Given the description of an element on the screen output the (x, y) to click on. 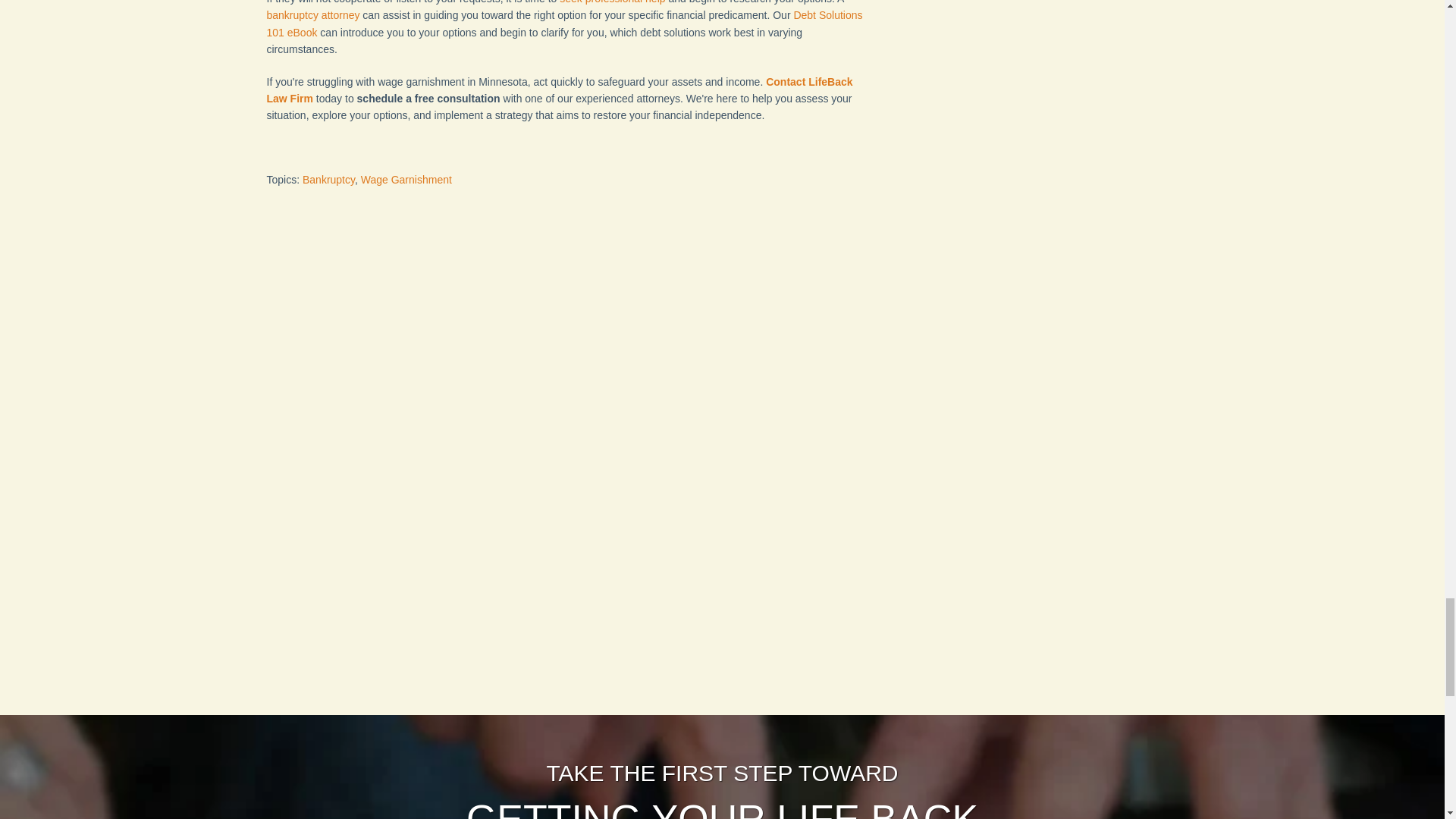
seek professional help (612, 2)
Debt Solutions 101 eBook (564, 23)
bankruptcy attorney (312, 15)
